Given the description of an element on the screen output the (x, y) to click on. 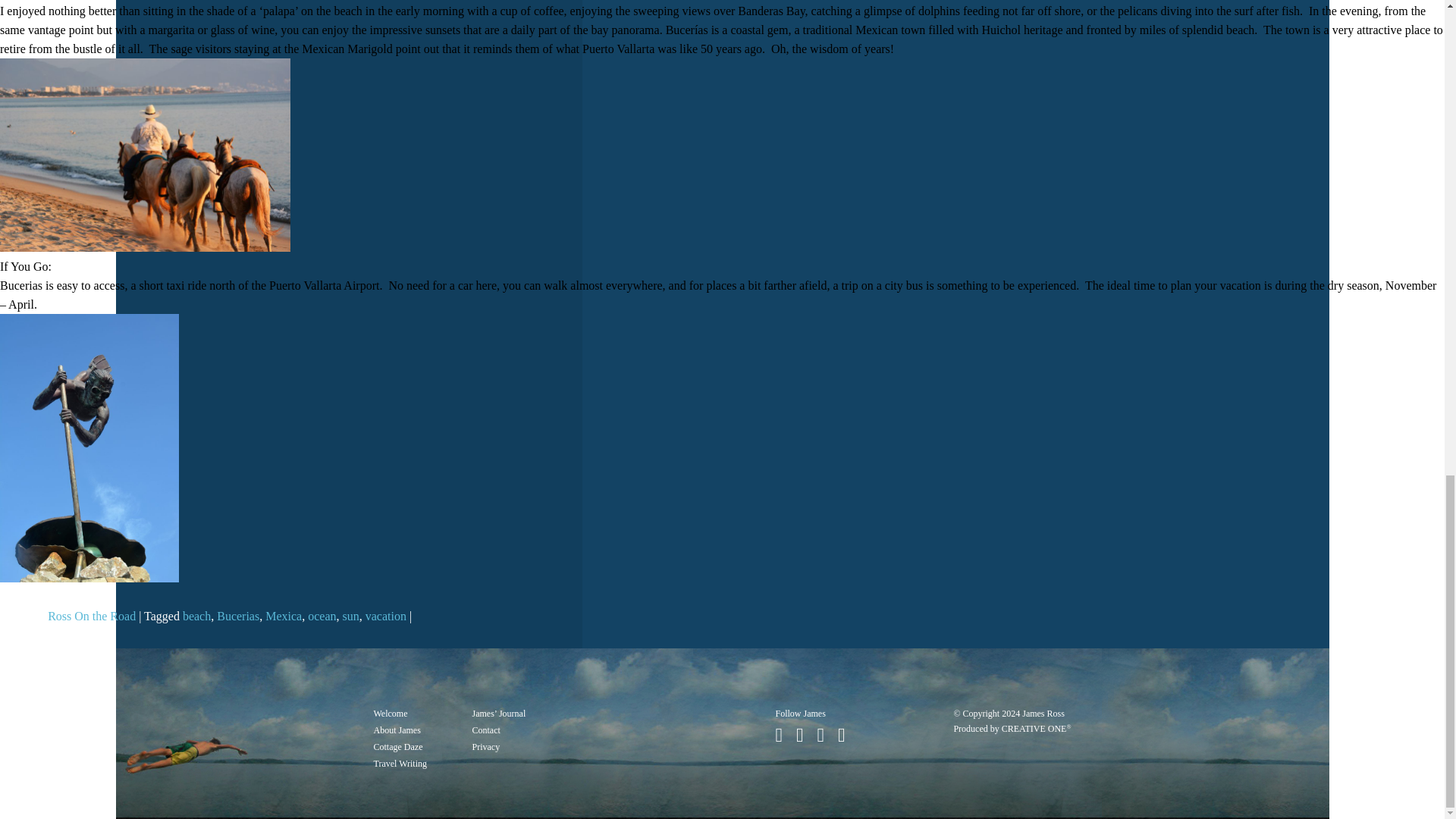
Welcome (389, 713)
sun (350, 615)
Bucerias (237, 615)
vacation (385, 615)
Contact (485, 729)
Mexica (282, 615)
ocean (321, 615)
Travel Writing (399, 763)
Ross On the Road (91, 615)
About James (396, 729)
beach (197, 615)
Privacy (485, 747)
Cottage Daze (397, 747)
